Given the description of an element on the screen output the (x, y) to click on. 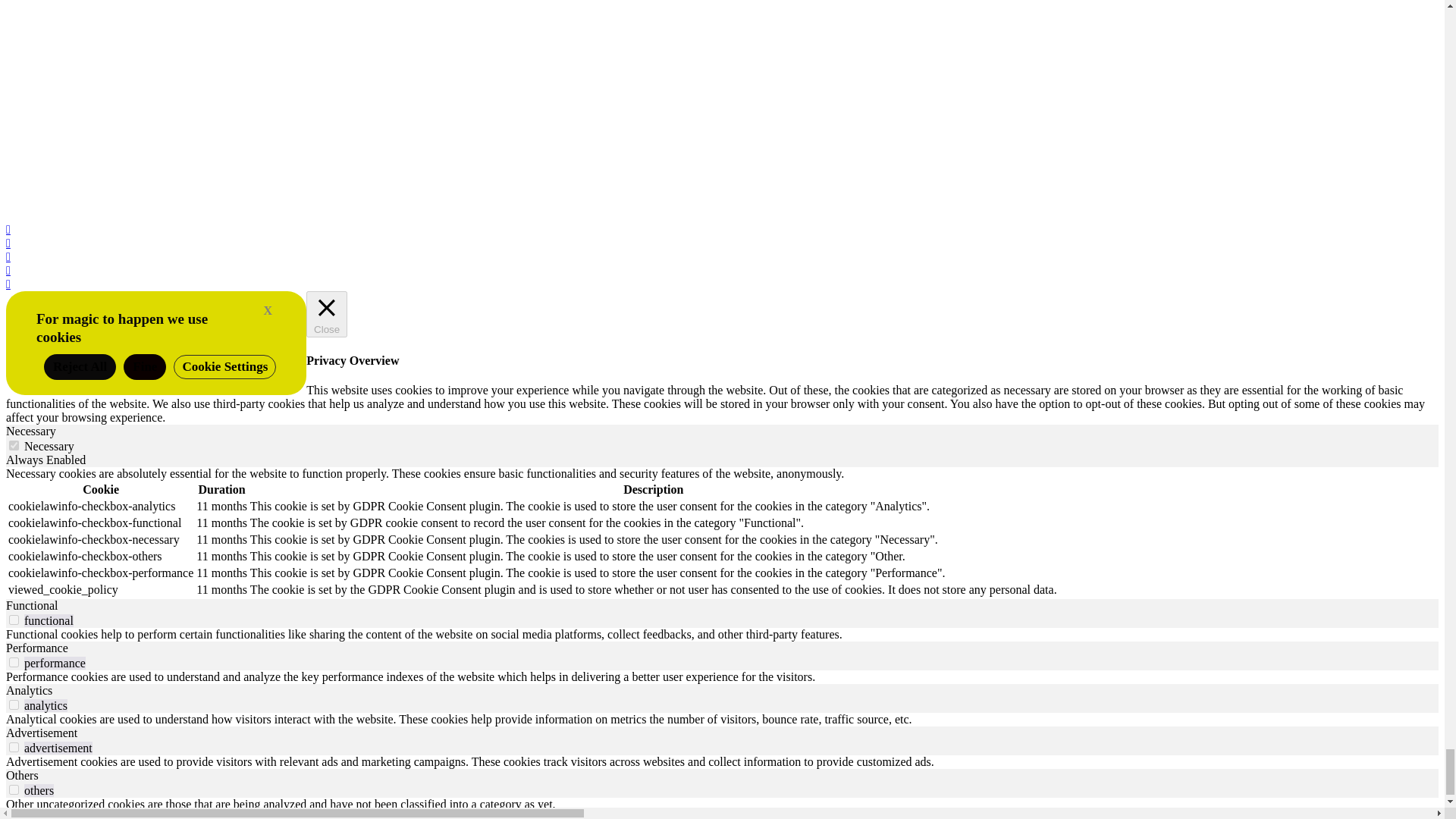
on (13, 445)
on (13, 747)
on (13, 705)
on (13, 789)
on (13, 662)
Close and Accept (267, 310)
on (13, 619)
